Given the description of an element on the screen output the (x, y) to click on. 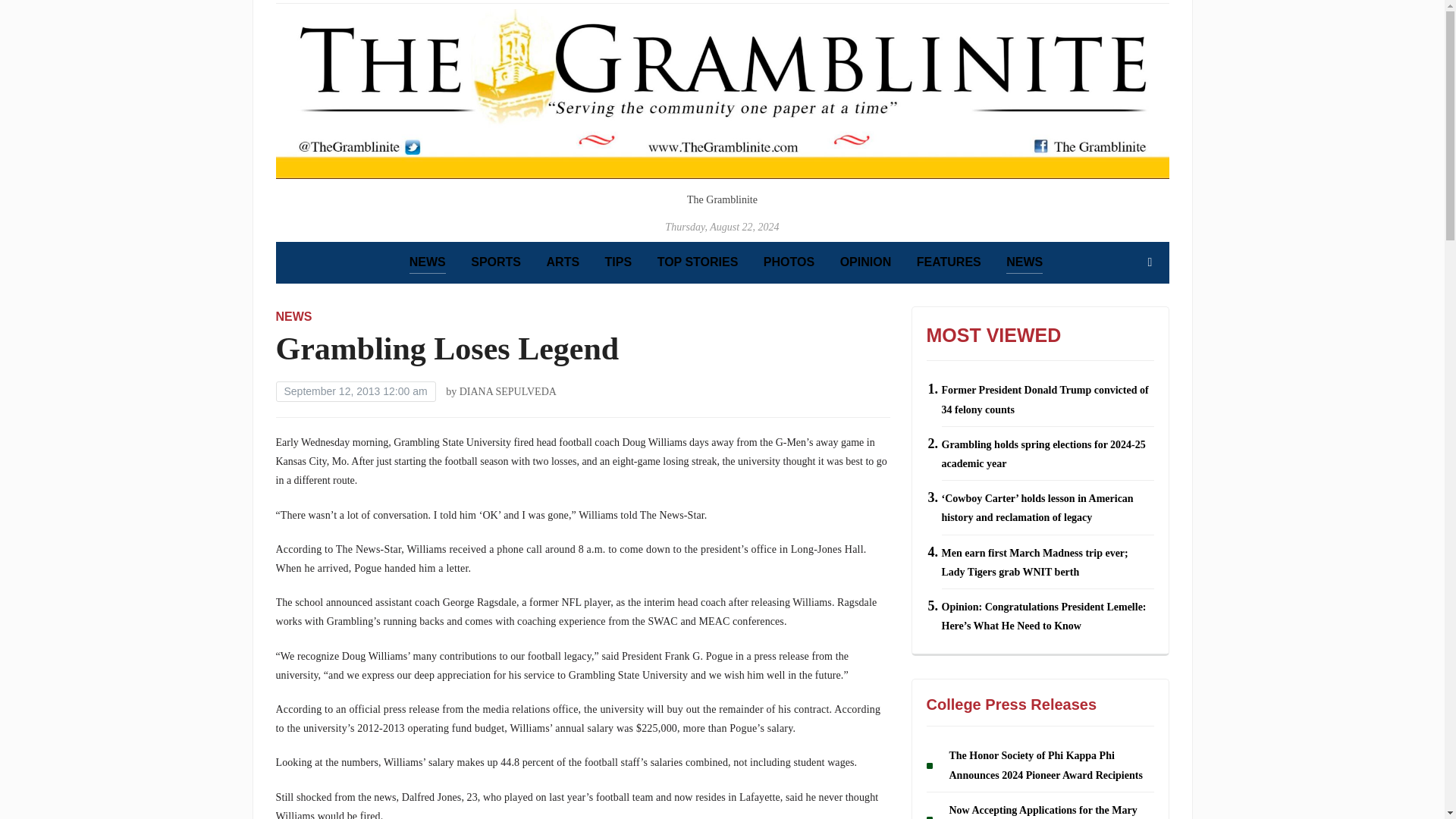
PHOTOS (787, 262)
TOP STORIES (698, 262)
NEWS (294, 316)
TIPS (618, 262)
Search (1149, 262)
OPINION (865, 262)
Grambling holds spring elections for 2024-25 academic year (1043, 453)
NEWS (1024, 262)
